Given the description of an element on the screen output the (x, y) to click on. 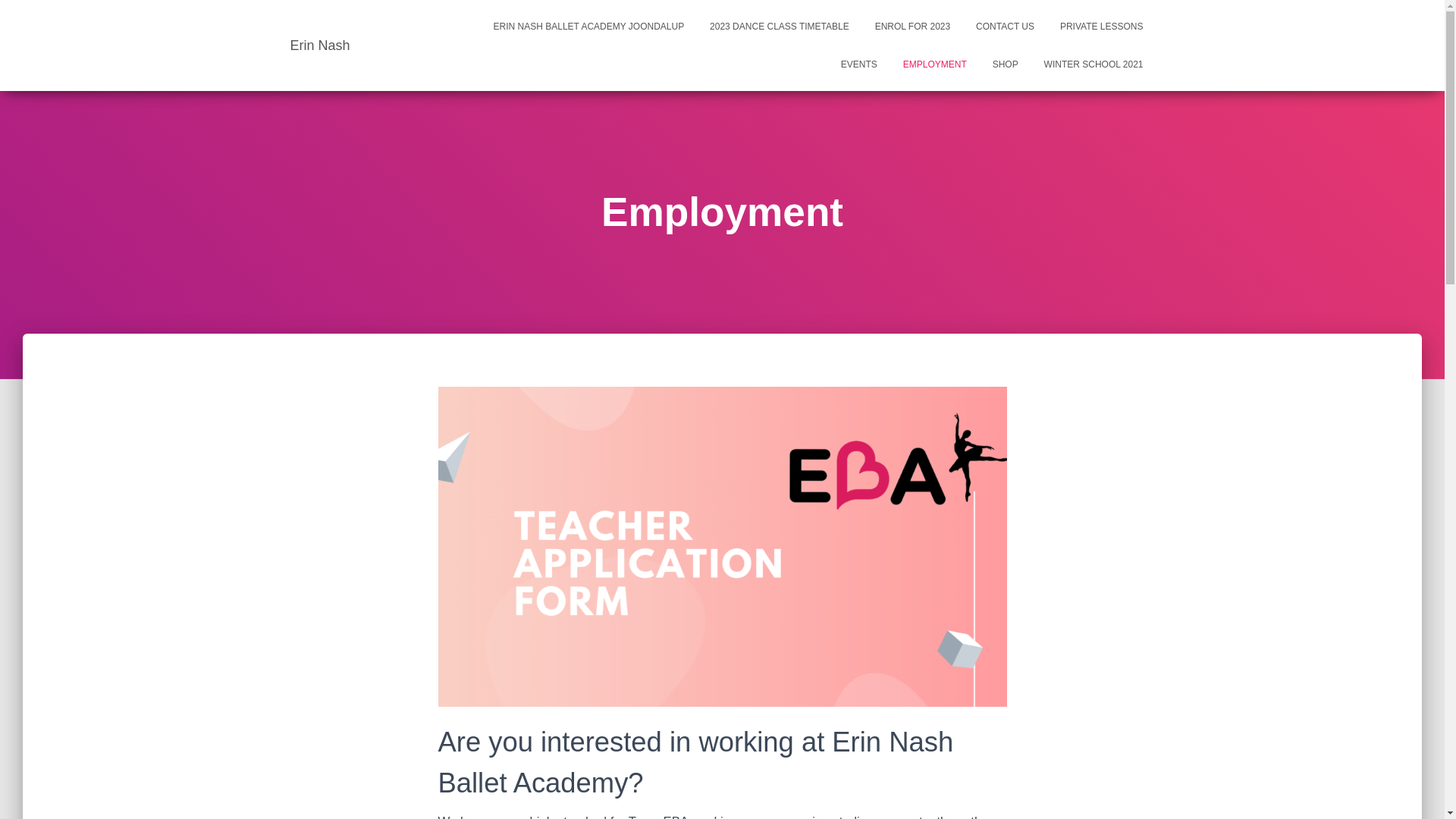
EVENTS Element type: text (858, 64)
ENROL FOR 2023 Element type: text (912, 26)
CONTACT US Element type: text (1004, 26)
WINTER SCHOOL 2021 Element type: text (1093, 64)
ERIN NASH BALLET ACADEMY JOONDALUP Element type: text (589, 26)
PRIVATE LESSONS Element type: text (1101, 26)
SHOP Element type: text (1005, 64)
Erin Nash Element type: text (319, 45)
EMPLOYMENT Element type: text (934, 64)
2023 DANCE CLASS TIMETABLE Element type: text (779, 26)
